Given the description of an element on the screen output the (x, y) to click on. 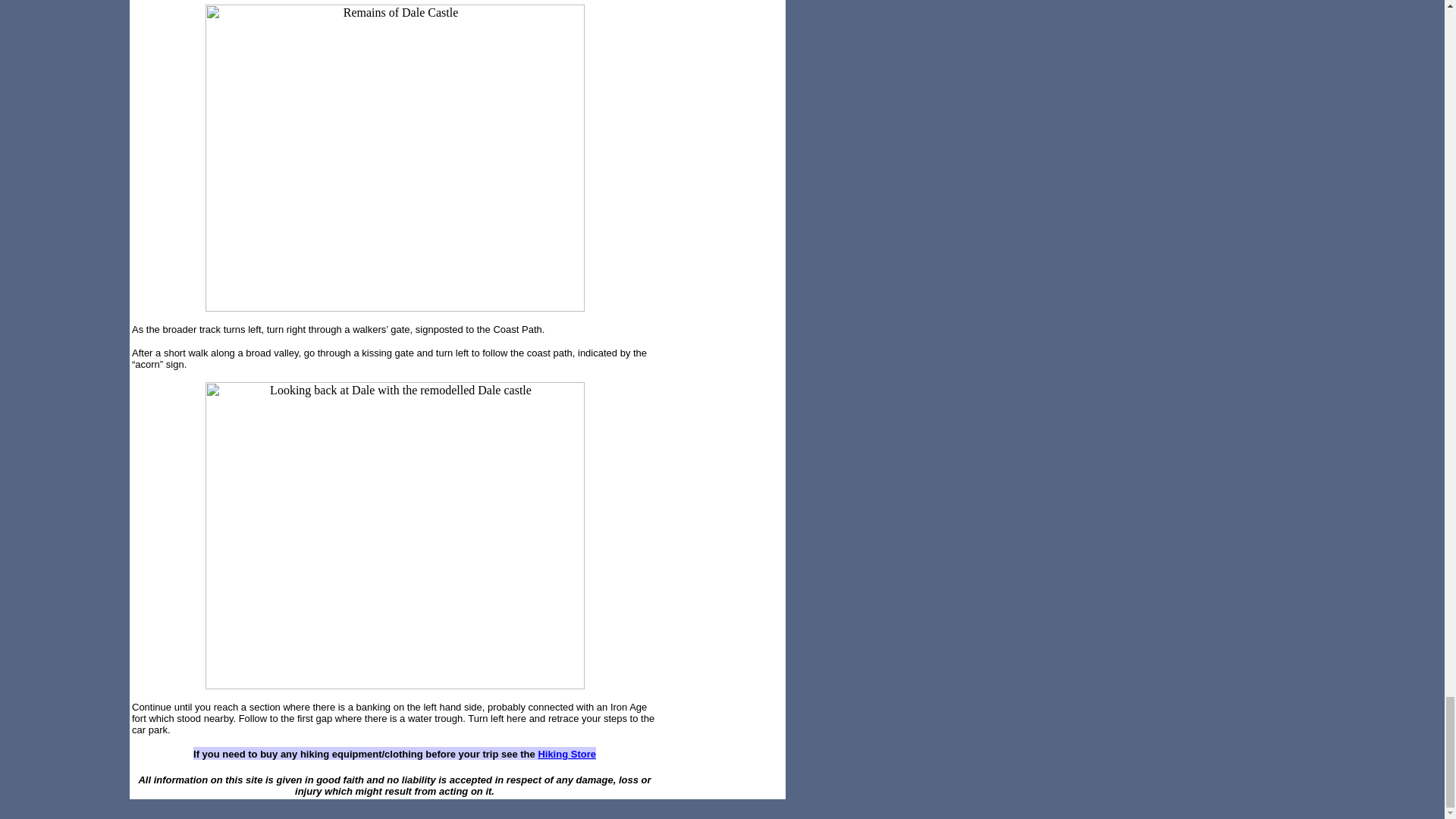
Hiking Store (566, 754)
